Given the description of an element on the screen output the (x, y) to click on. 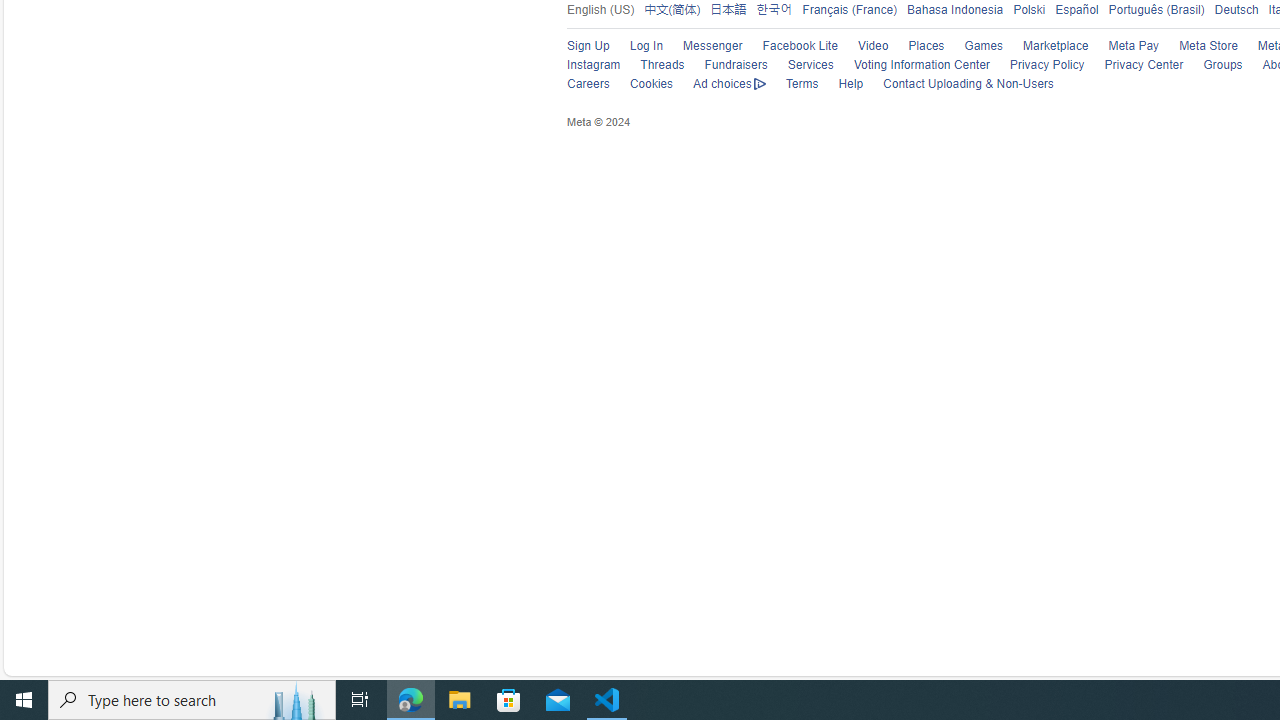
Places (916, 46)
Facebook Lite (790, 46)
Voting Information Center (911, 66)
Games (983, 45)
Meta Pay (1123, 46)
Services (810, 65)
Threads (651, 66)
English (US) (600, 9)
Contact Uploading & Non-Users (968, 84)
Marketplace (1055, 45)
Privacy Center (1143, 65)
Messenger (712, 45)
